Given the description of an element on the screen output the (x, y) to click on. 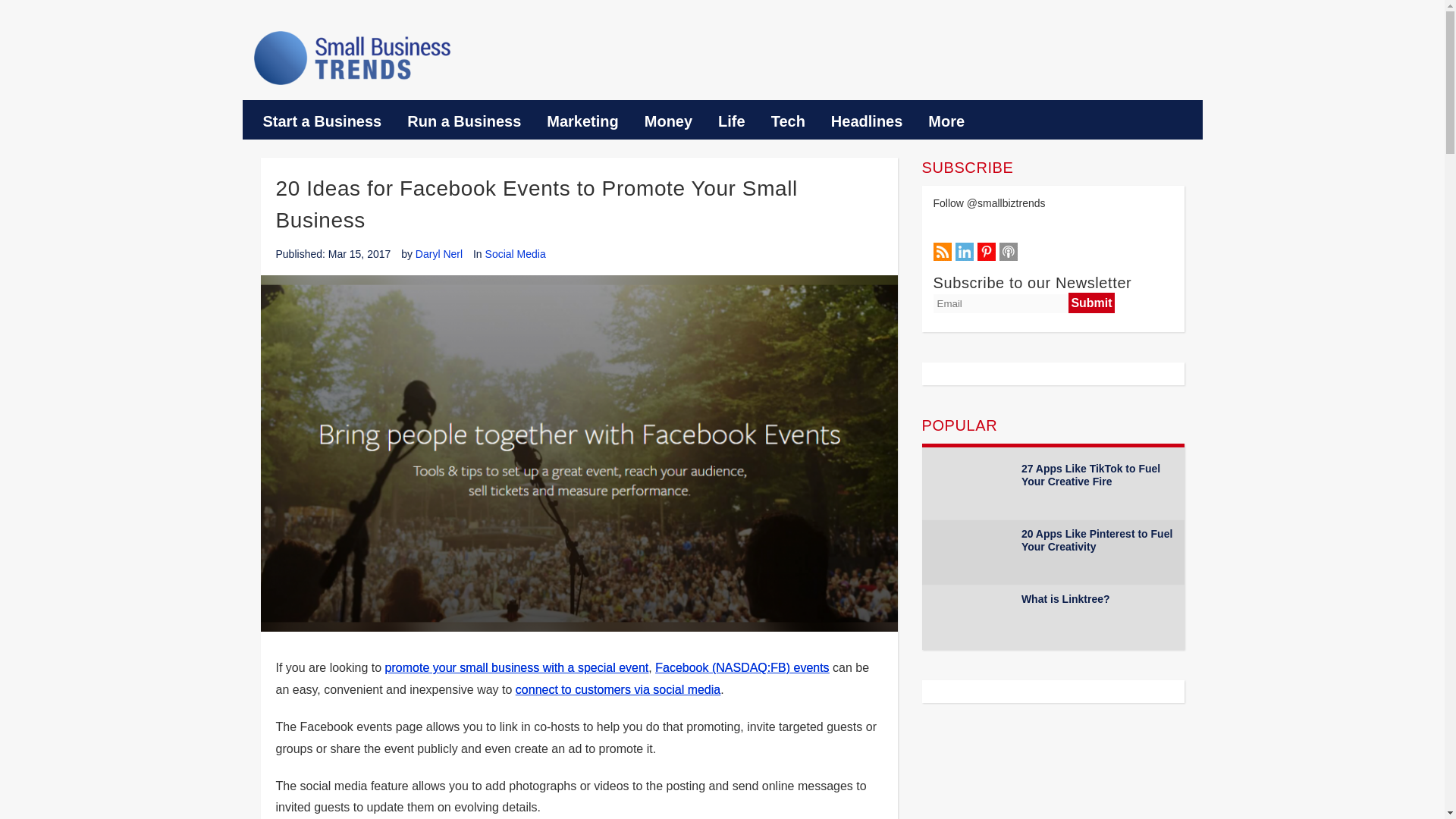
Posts by Daryl Nerl (438, 254)
Small Business Trends (351, 58)
Run a Business (464, 121)
Marketing (582, 121)
Money (667, 121)
Tech (788, 121)
Headlines (866, 121)
View all articles in Social Media (515, 254)
Small Business Trends (351, 58)
Life (731, 121)
Start a Business (322, 121)
